Given the description of an element on the screen output the (x, y) to click on. 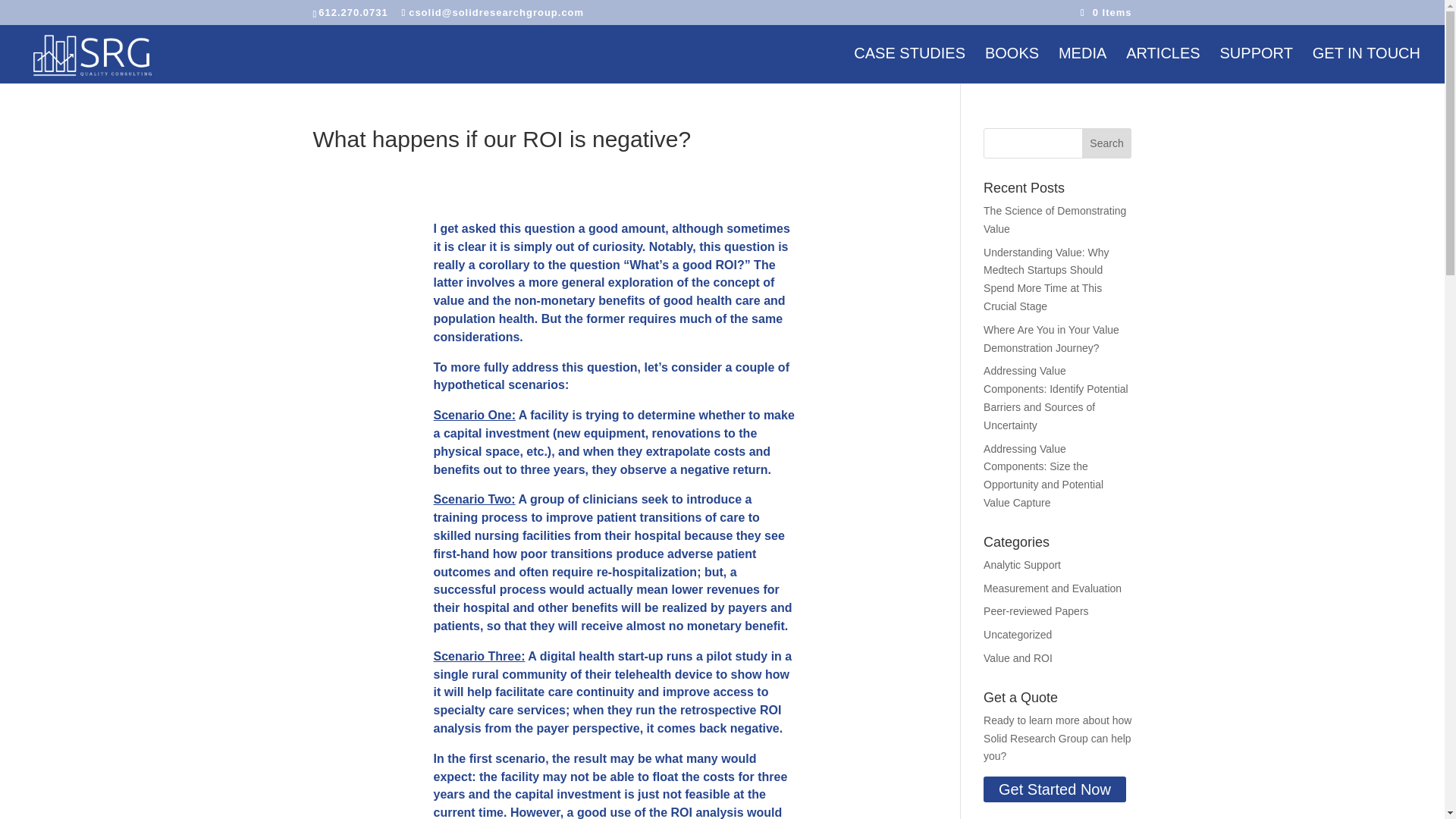
SUPPORT (1256, 65)
Search (1106, 142)
Value and ROI (1018, 657)
ARTICLES (1162, 65)
CASE STUDIES (909, 65)
Where Are You in Your Value Demonstration Journey? (1051, 338)
GET IN TOUCH (1367, 65)
Search (1106, 142)
The Science of Demonstrating Value (1054, 219)
